Given the description of an element on the screen output the (x, y) to click on. 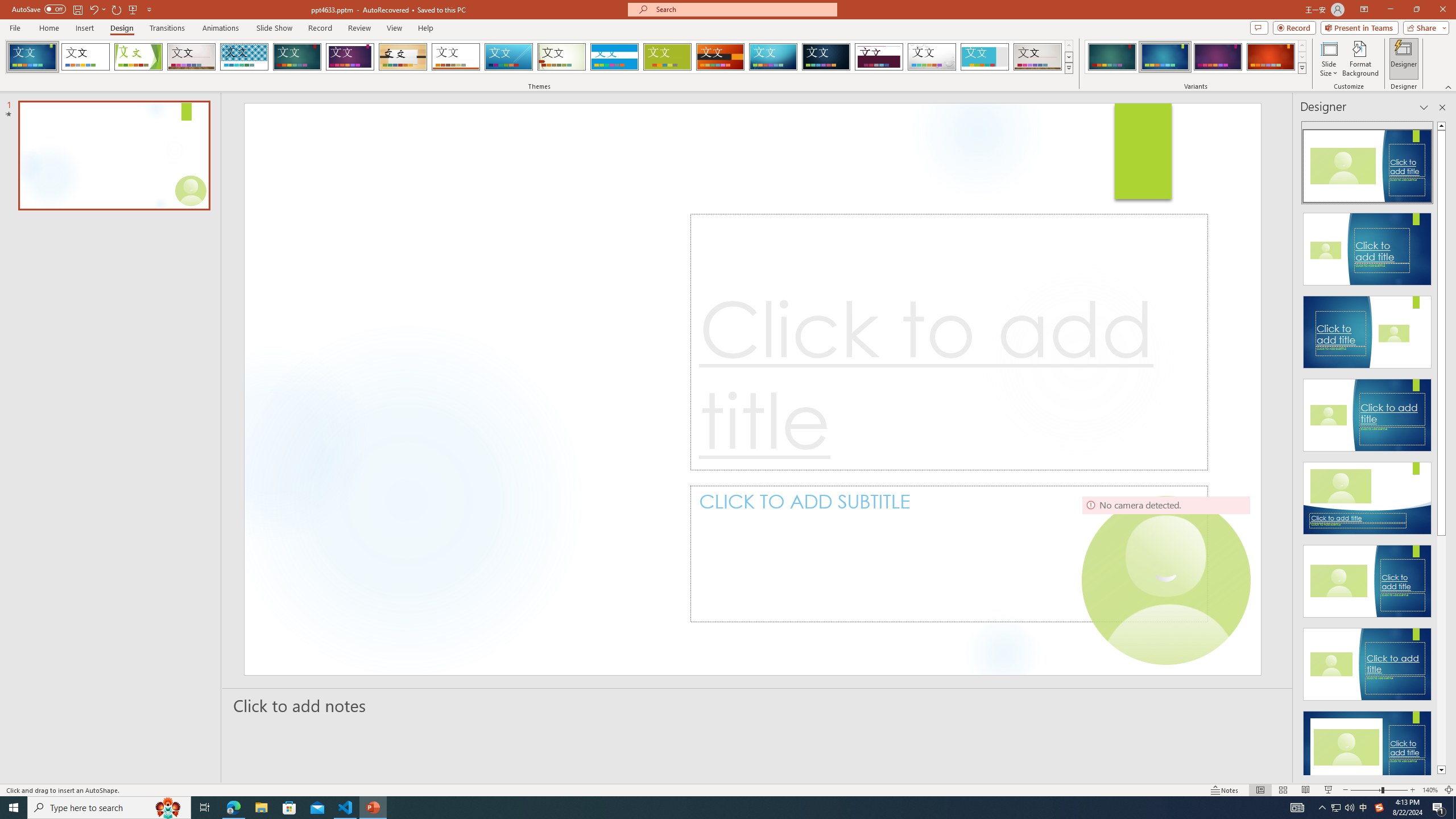
Frame Loading Preview... (984, 56)
Themes (1068, 67)
Ion Variant 2 (1164, 56)
Ion (296, 56)
Integral (244, 56)
Class: NetUIScrollBar (1441, 447)
